Given the description of an element on the screen output the (x, y) to click on. 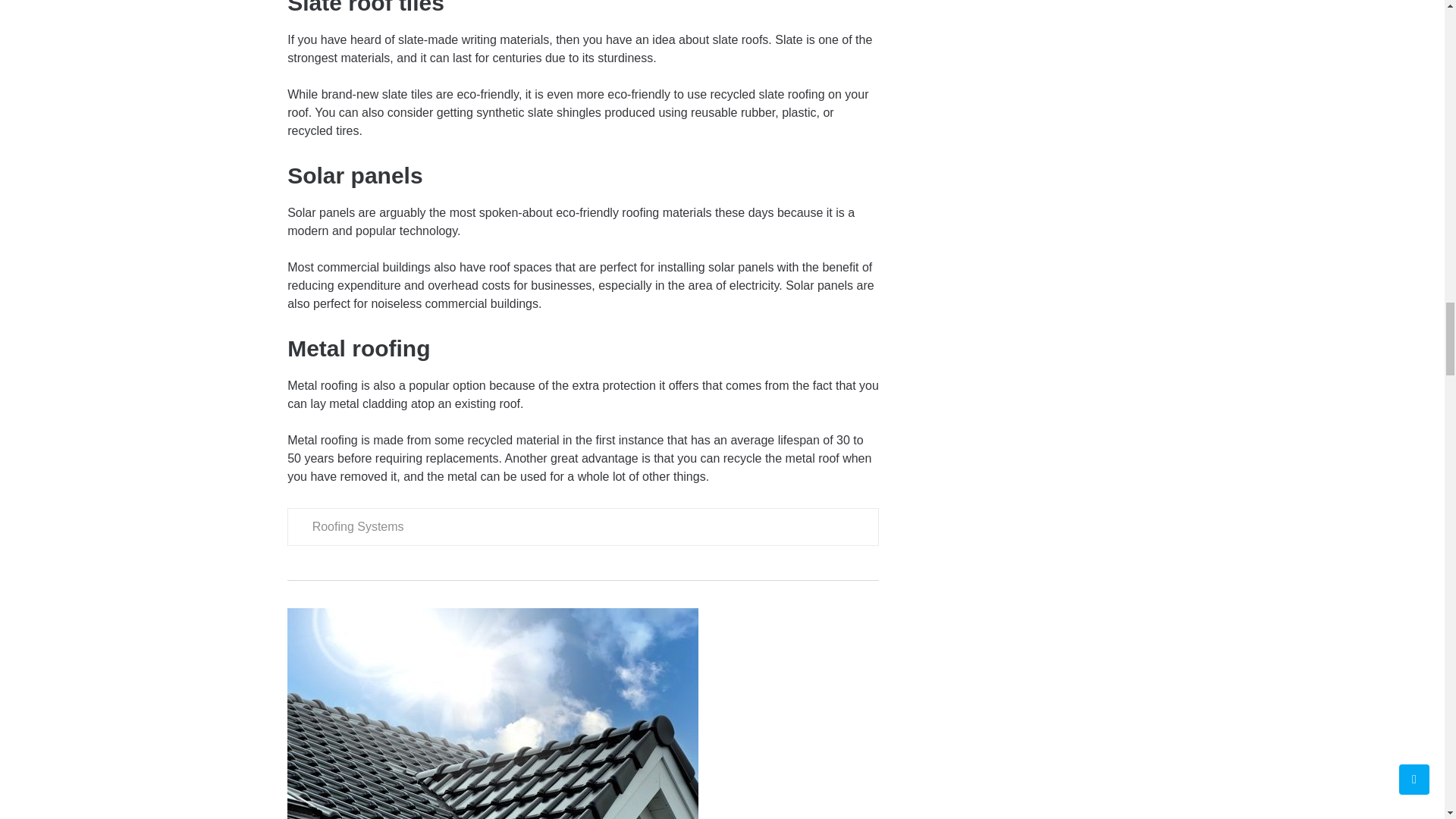
Roofing Systems (358, 526)
